Given the description of an element on the screen output the (x, y) to click on. 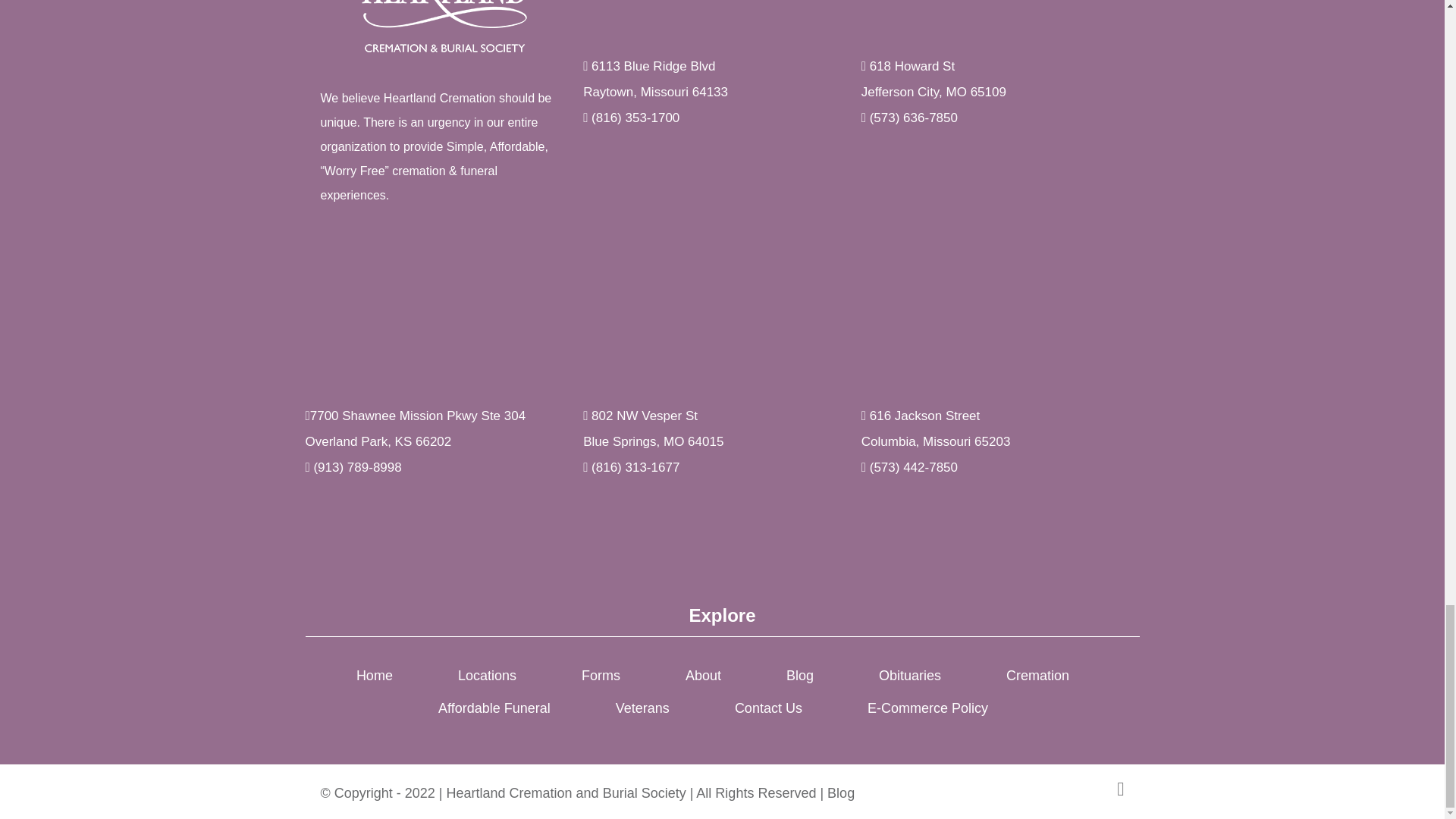
footer-sml-HeartLandWhiteNoBackground (443, 28)
